Given the description of an element on the screen output the (x, y) to click on. 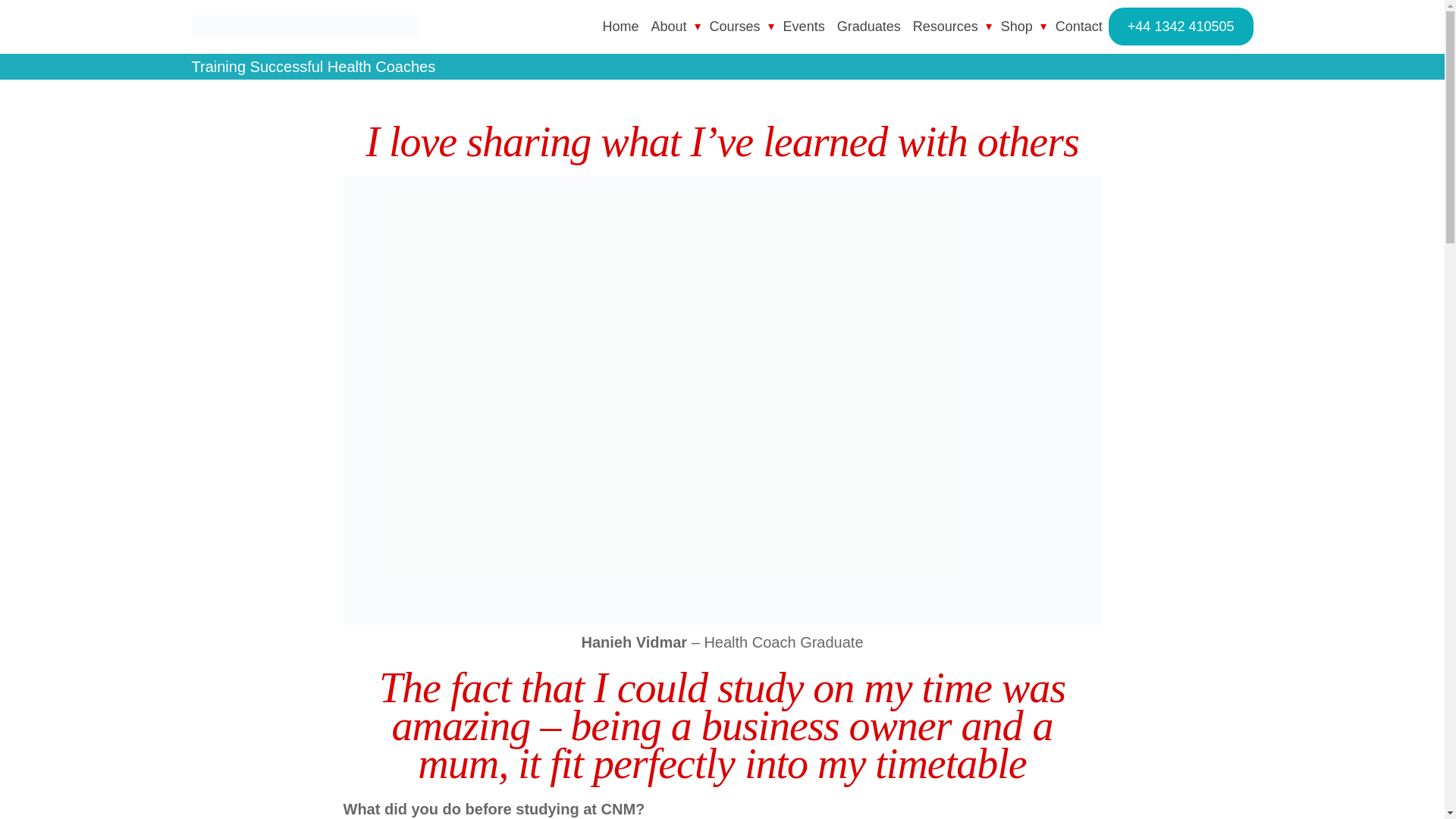
Courses (735, 26)
Shop (1016, 26)
Contact (1078, 26)
About (669, 26)
Home (620, 26)
Events (804, 26)
Resources (945, 26)
Graduates (869, 26)
